Given the description of an element on the screen output the (x, y) to click on. 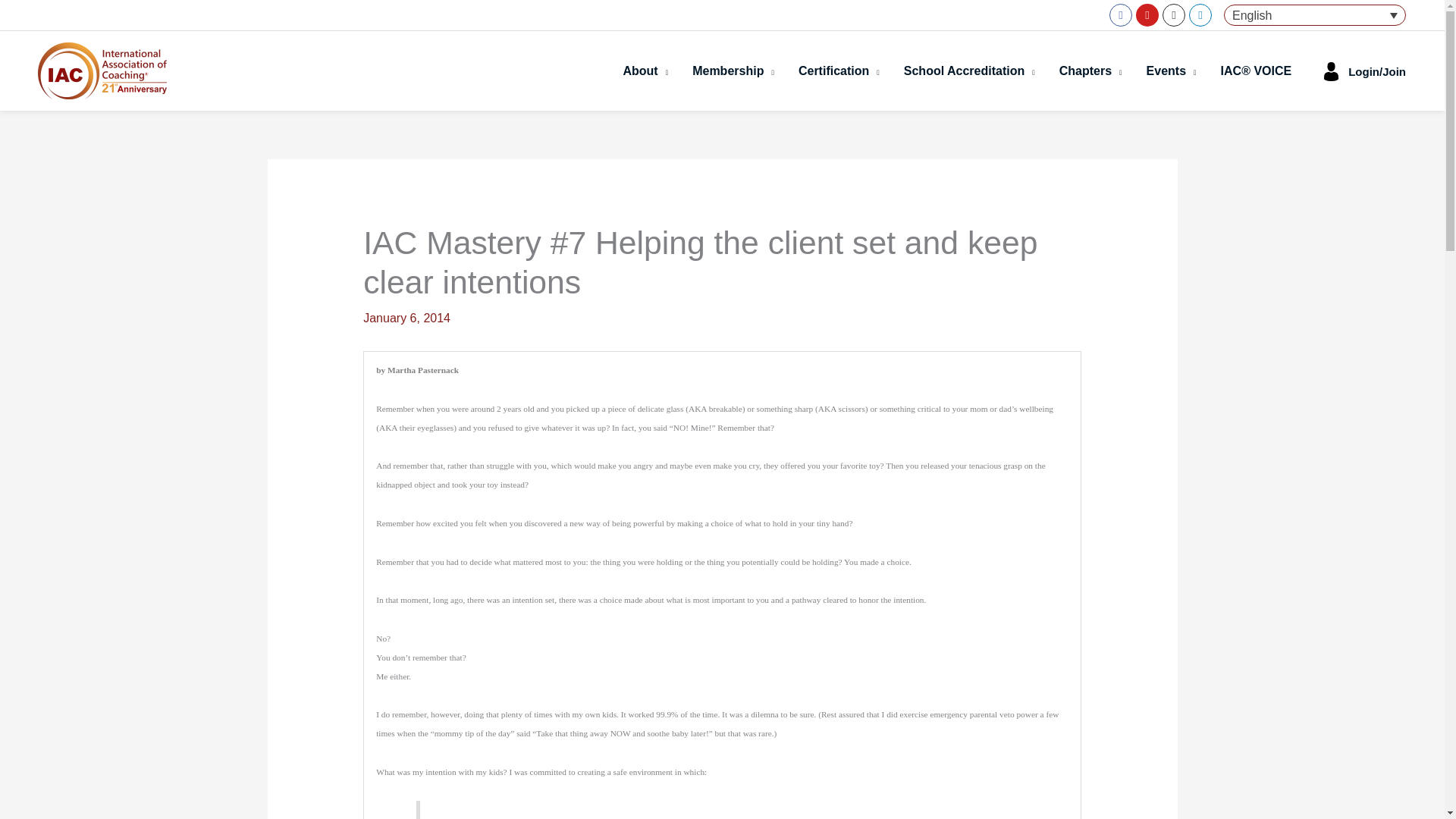
Linkedin-in (1200, 15)
English (1315, 15)
man-user (1331, 71)
Instagram (1173, 15)
Youtube (1146, 15)
Membership (732, 70)
School Accreditation (968, 70)
Certification (838, 70)
Facebook-f (1120, 15)
About (644, 70)
